Given the description of an element on the screen output the (x, y) to click on. 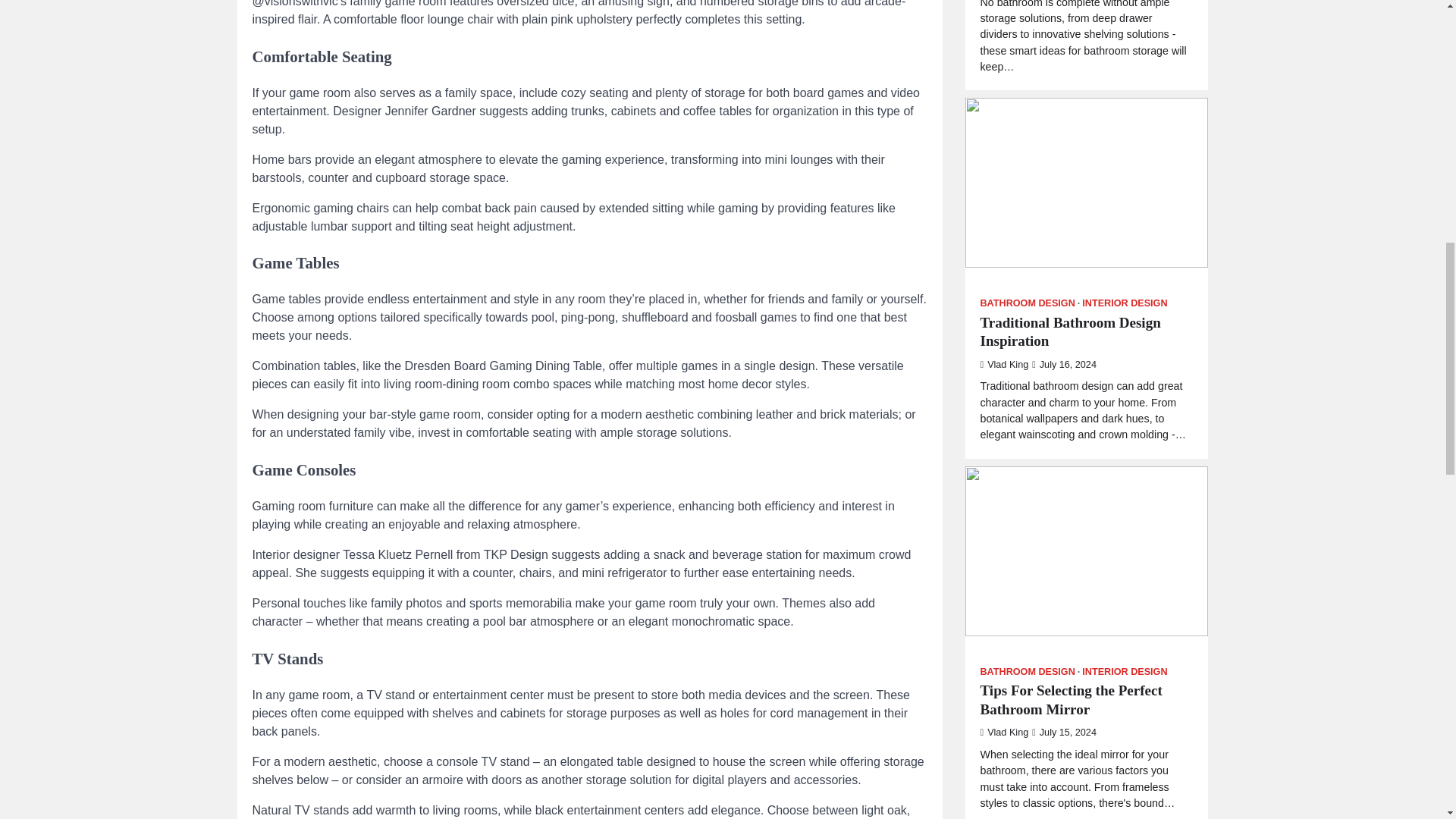
July 16, 2024 (1064, 89)
Traditional Bathroom Design Inspiration (1085, 56)
BATHROOM DESIGN (1029, 28)
INTERIOR DESIGN (1124, 28)
Vlad King (1003, 89)
BATHROOM DESIGN (1029, 396)
